Given the description of an element on the screen output the (x, y) to click on. 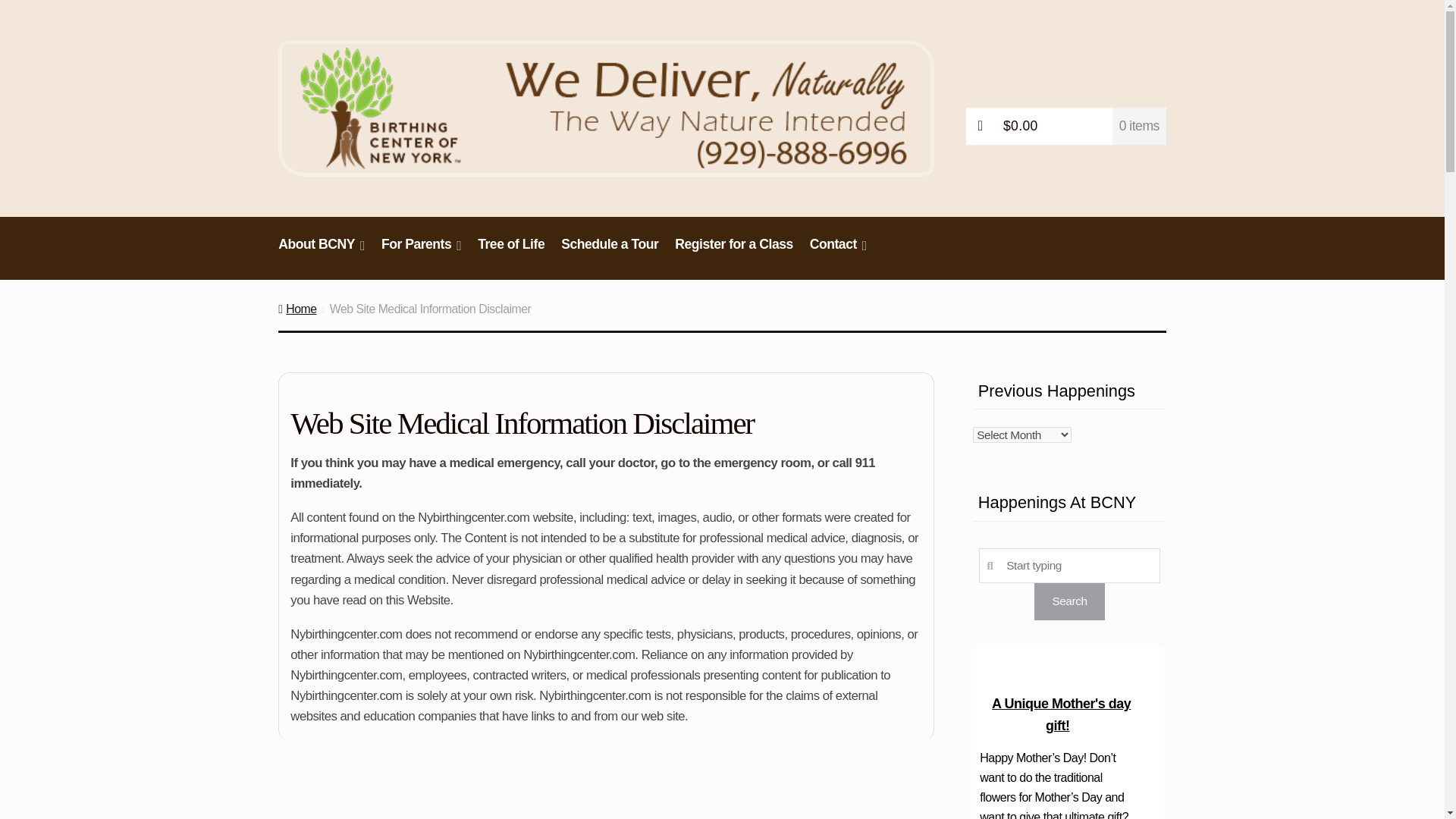
Register for a Class (733, 252)
Contact (838, 252)
View your shopping cart (1066, 126)
For Parents (420, 252)
Tree of Life (510, 252)
Schedule a Tour (609, 252)
Press enter to reset (1069, 565)
Search (1068, 601)
About BCNY (321, 252)
